Given the description of an element on the screen output the (x, y) to click on. 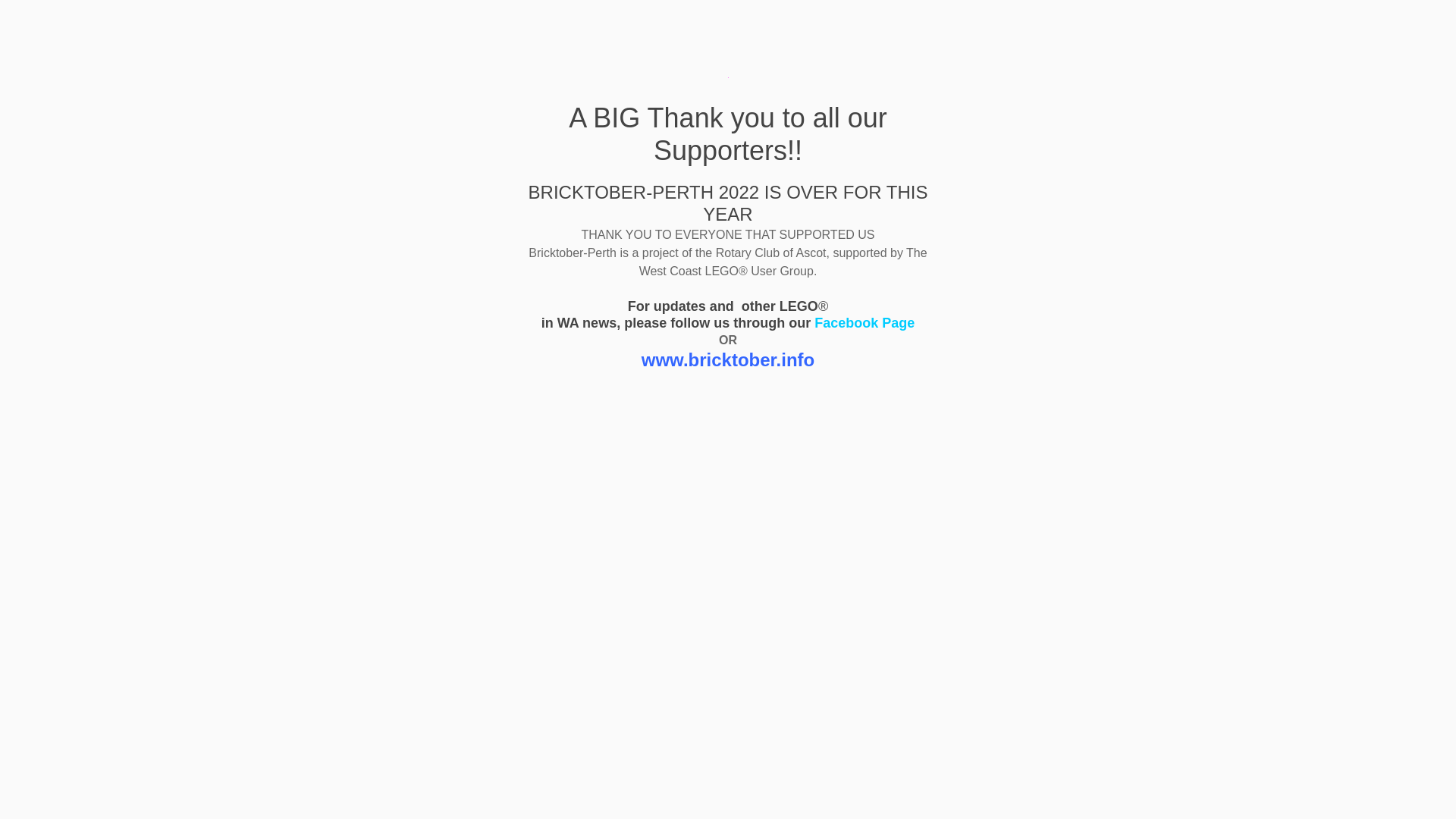
www.bricktober.info Element type: text (727, 359)
Facebook Page Element type: text (864, 322)
